Given the description of an element on the screen output the (x, y) to click on. 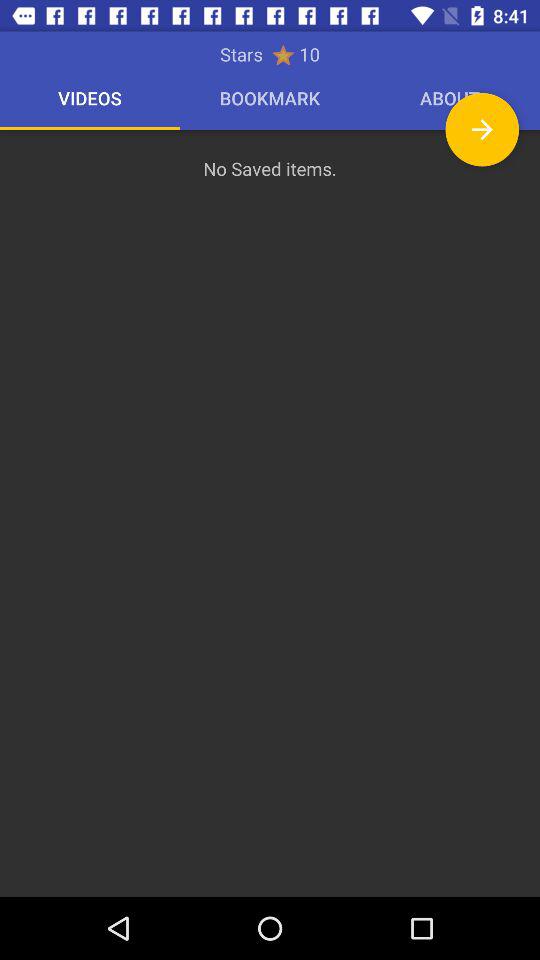
choose the icon next to the bookmark icon (482, 129)
